Given the description of an element on the screen output the (x, y) to click on. 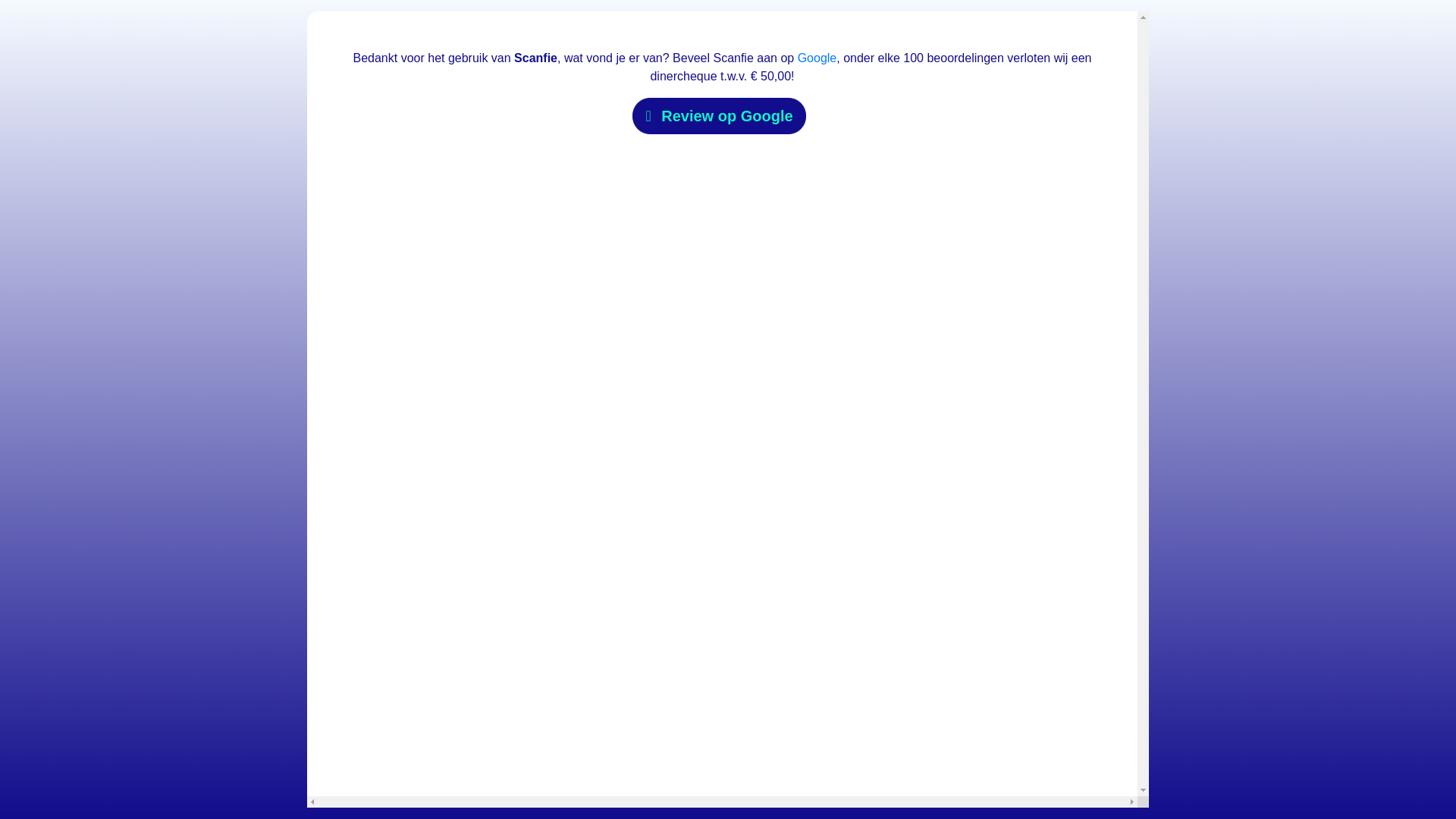
Review op Google (718, 115)
Google (817, 57)
